Given the description of an element on the screen output the (x, y) to click on. 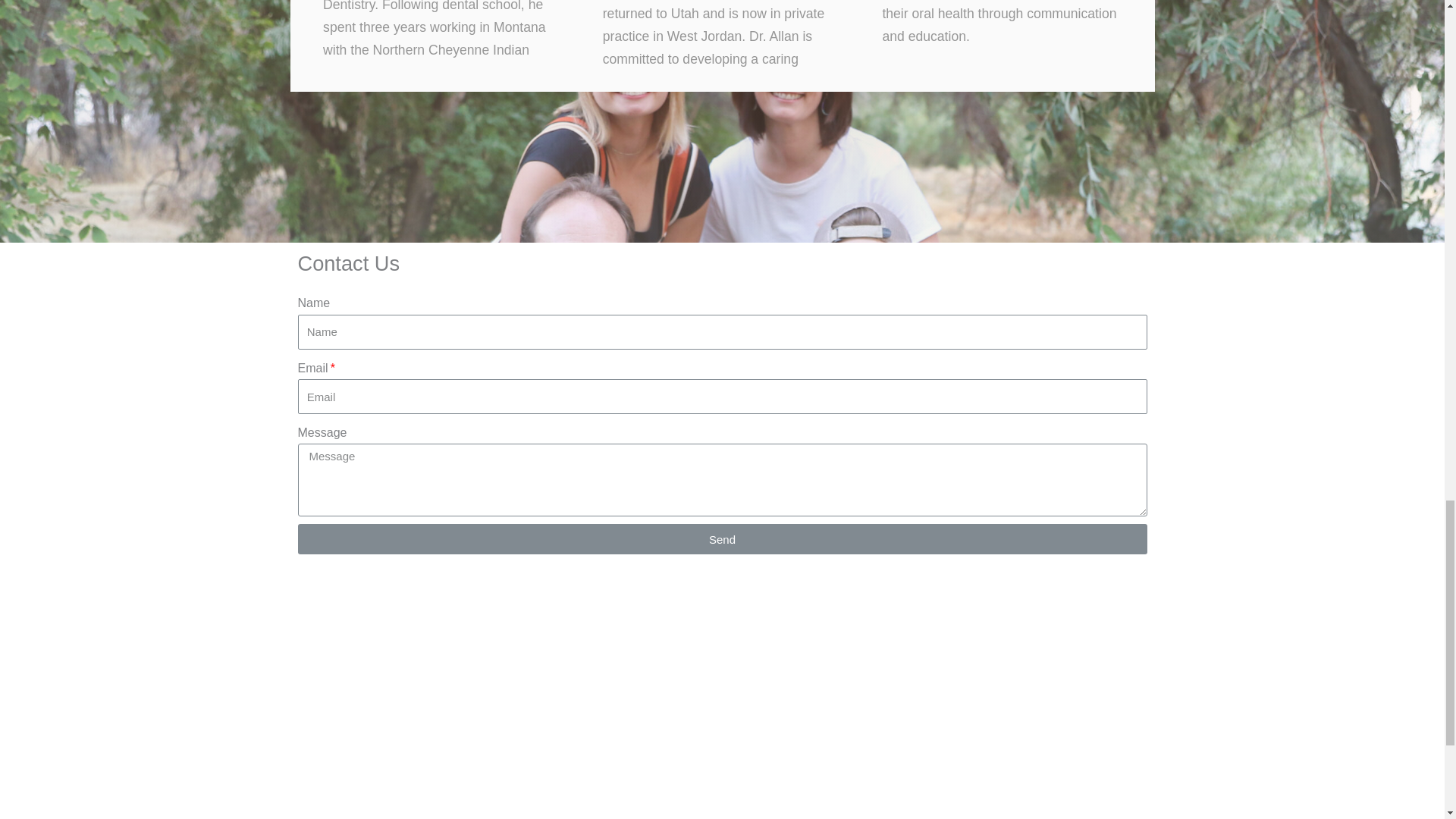
Send (722, 539)
